Given the description of an element on the screen output the (x, y) to click on. 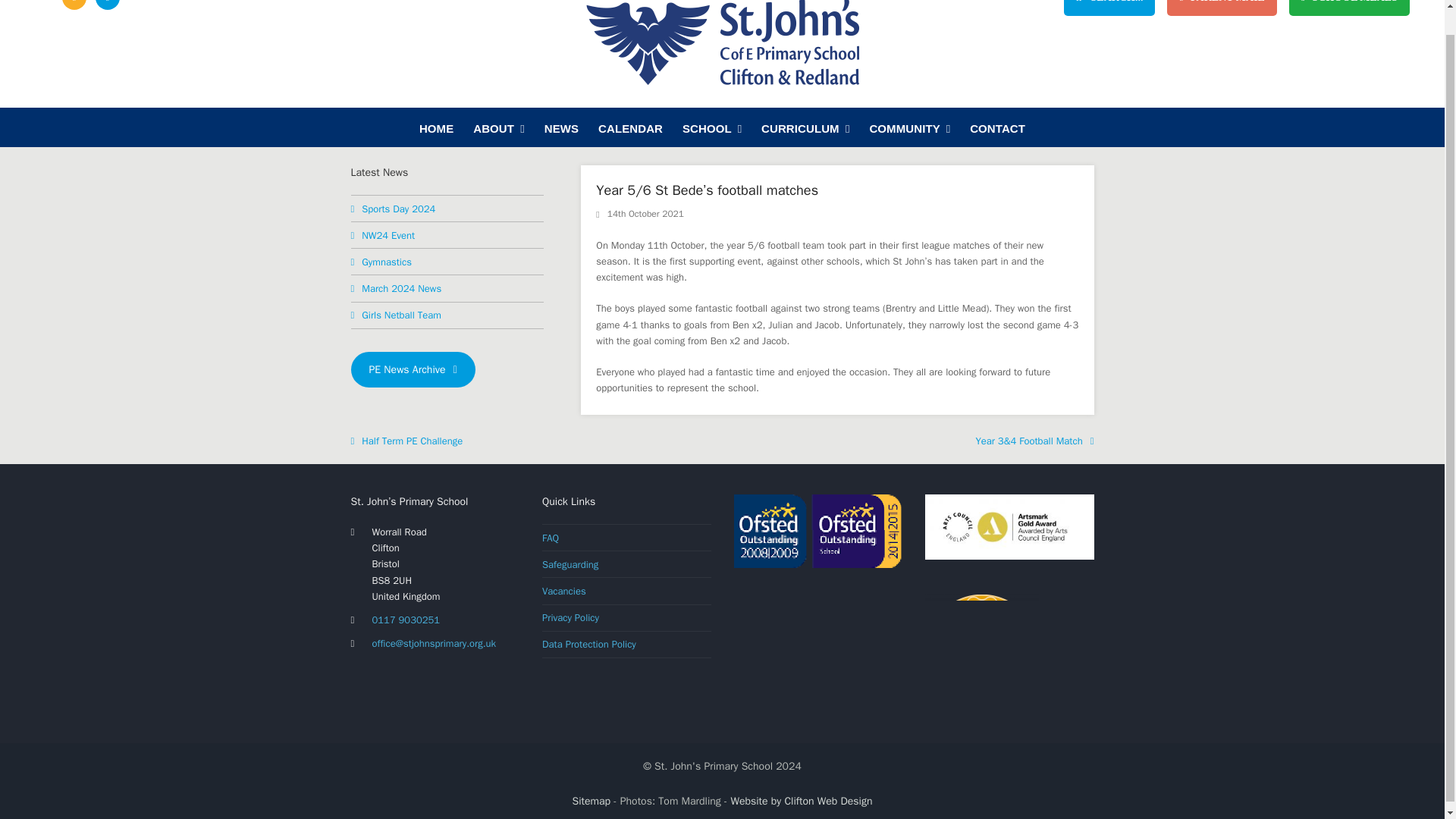
ABOUT (498, 127)
HOME (435, 127)
NEWS (560, 127)
Older posts: click here (413, 369)
SCHOOL (711, 127)
CALENDAR (630, 127)
CURRICULUM (804, 127)
